Given the description of an element on the screen output the (x, y) to click on. 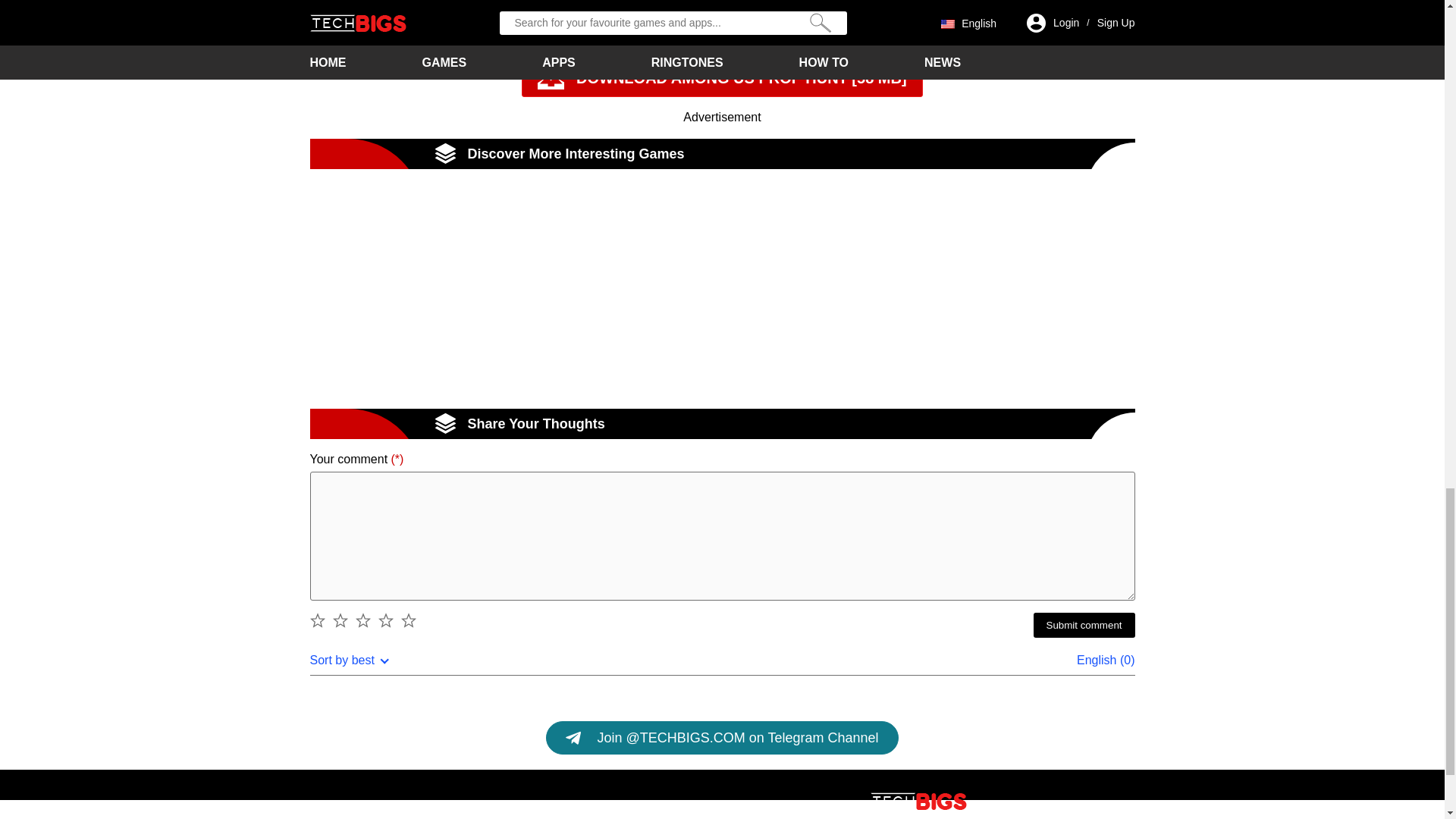
Submit comment (1083, 625)
